Given the description of an element on the screen output the (x, y) to click on. 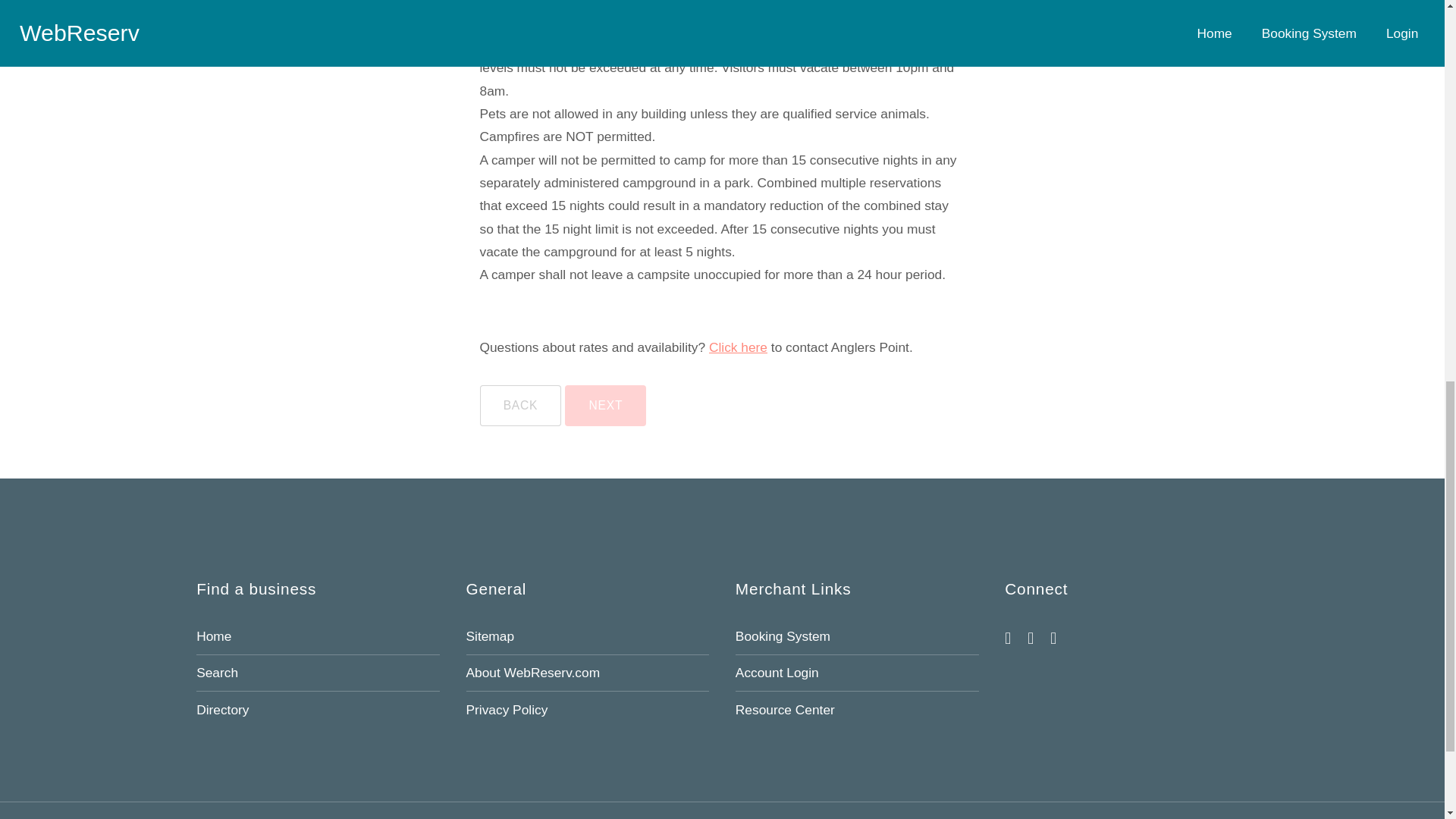
Search (217, 672)
Directory (222, 709)
Home (213, 635)
About WebReserv.com (532, 672)
Click here (738, 346)
Booking System (782, 635)
Sitemap (489, 635)
Account Login (776, 672)
Resource Center (784, 709)
Privacy Policy (506, 709)
Back (519, 405)
Next (605, 405)
Next (605, 405)
